Given the description of an element on the screen output the (x, y) to click on. 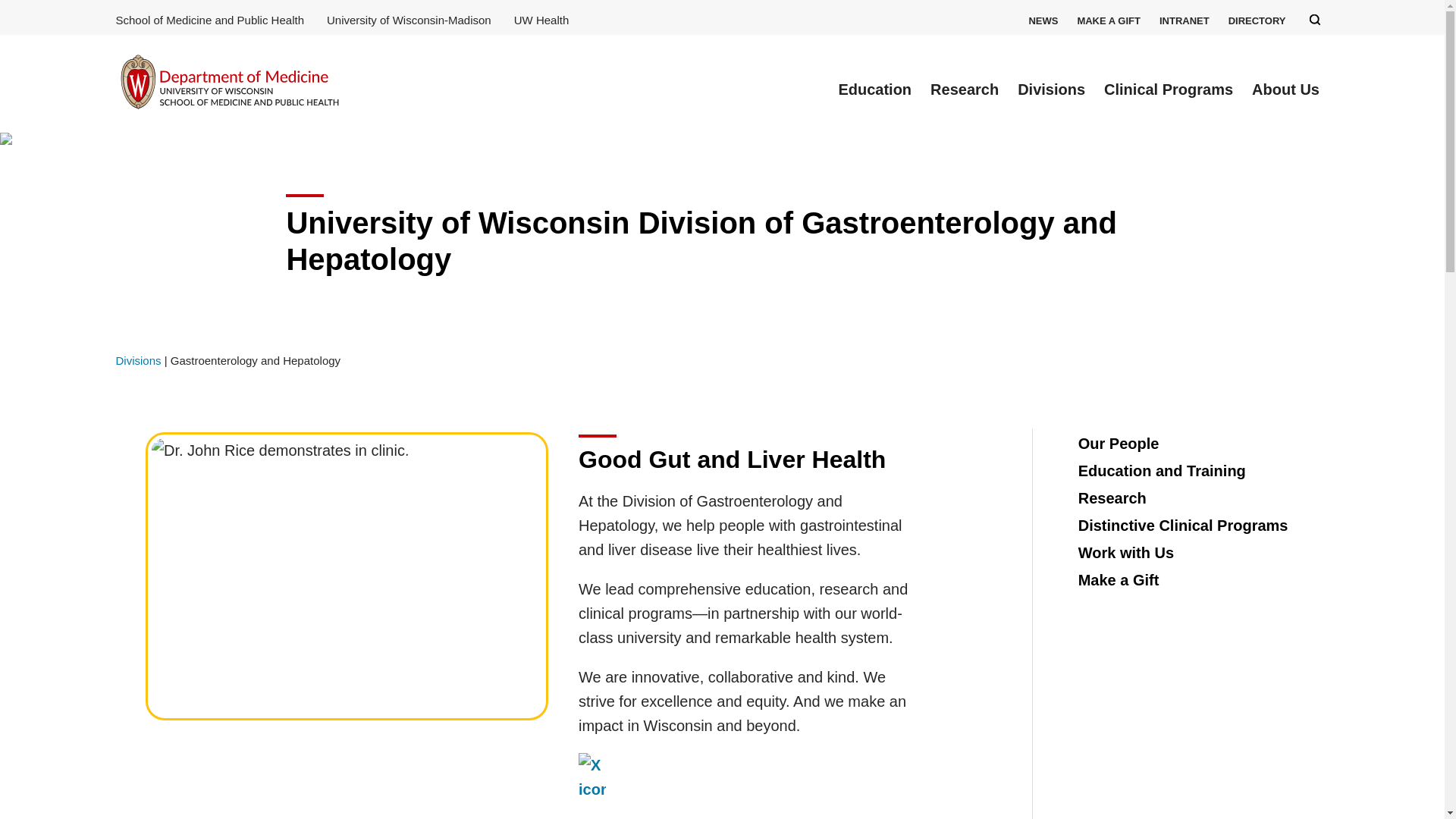
UW Health (541, 19)
Education (874, 89)
DIRECTORY (1256, 20)
INTRANET (1183, 20)
NEWS (1042, 20)
Home (228, 83)
MAKE A GIFT (1108, 20)
School of Medicine and Public Health (208, 19)
University of Wisconsin-Madison (409, 19)
